Given the description of an element on the screen output the (x, y) to click on. 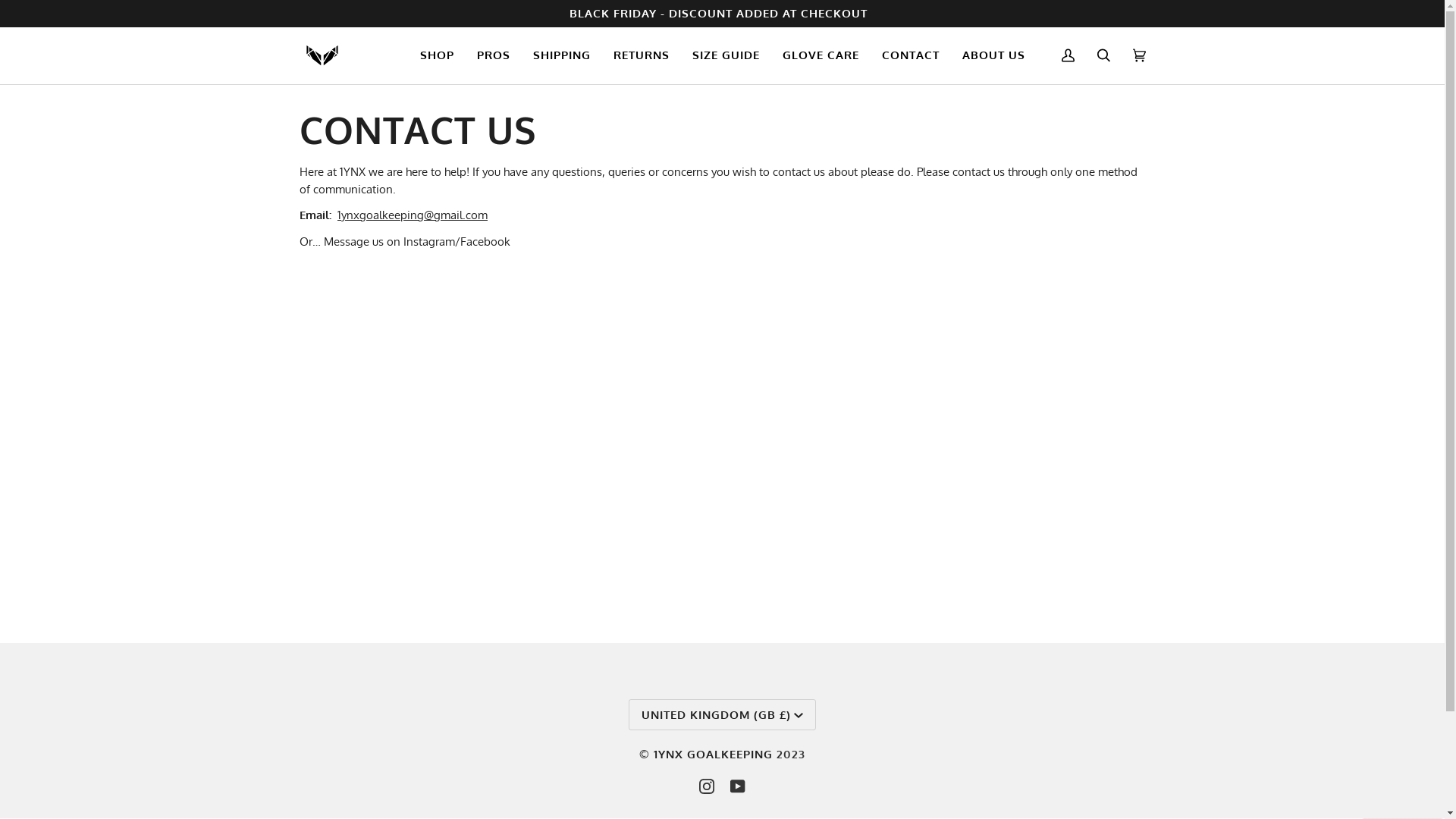
RETURNS Element type: text (641, 55)
GLOVE CARE Element type: text (819, 55)
SHIPPING Element type: text (561, 55)
SHOP Element type: text (435, 55)
YOUTUBE Element type: text (737, 785)
My Account Element type: text (1067, 55)
Search Element type: text (1103, 55)
1ynxgoalkeeping@gmail.com Element type: text (411, 215)
ABOUT US Element type: text (993, 55)
1YNX GOALKEEPING Element type: text (712, 753)
INSTAGRAM Element type: text (706, 785)
Cart
(0) Element type: text (1138, 55)
SIZE GUIDE Element type: text (725, 55)
PROS Element type: text (493, 55)
CONTACT Element type: text (910, 55)
